Given the description of an element on the screen output the (x, y) to click on. 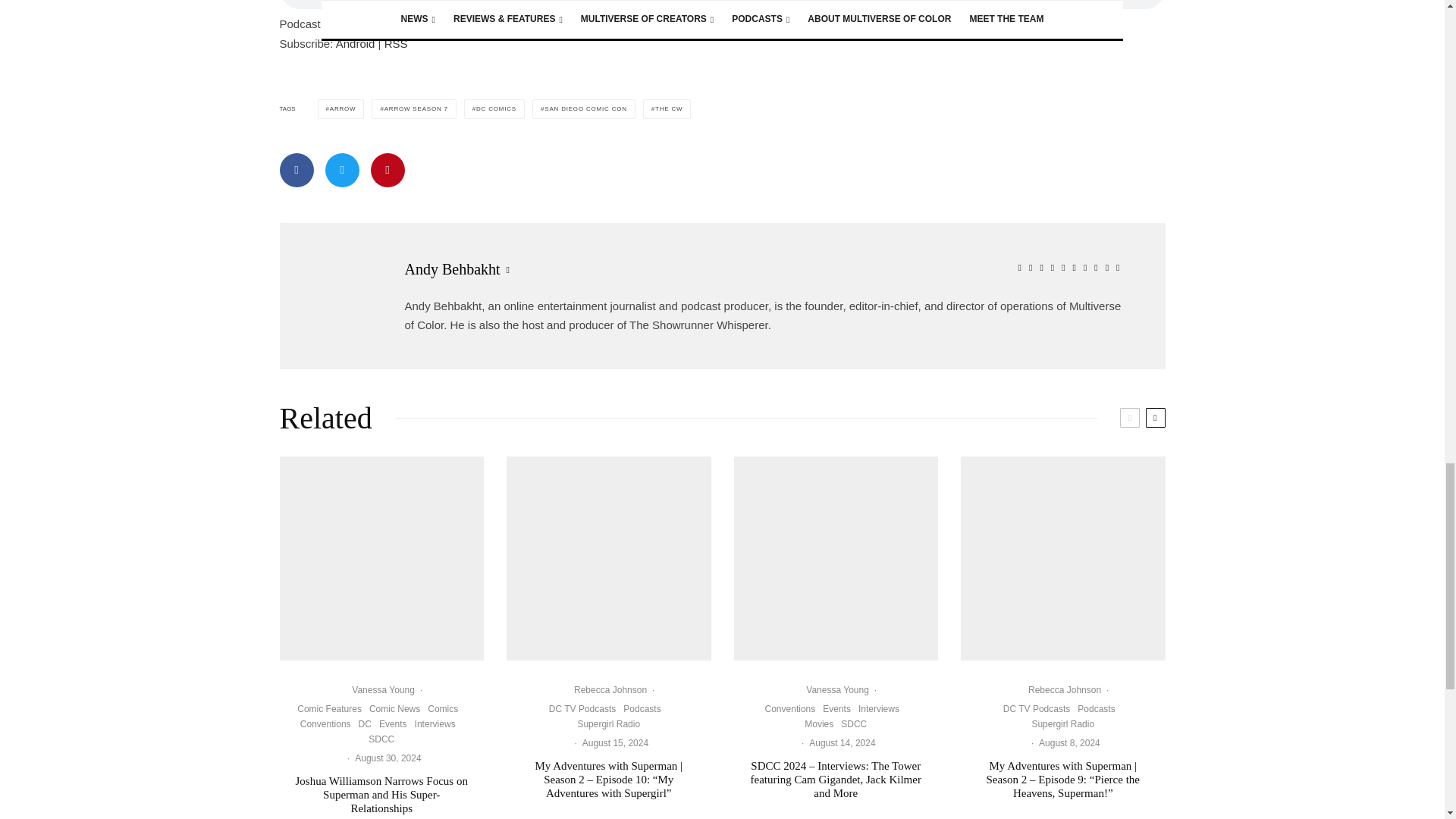
Download (460, 23)
Subscribe via RSS (395, 42)
Embed (513, 23)
Play in new window (376, 23)
Subscribe on Android (355, 42)
